Given the description of an element on the screen output the (x, y) to click on. 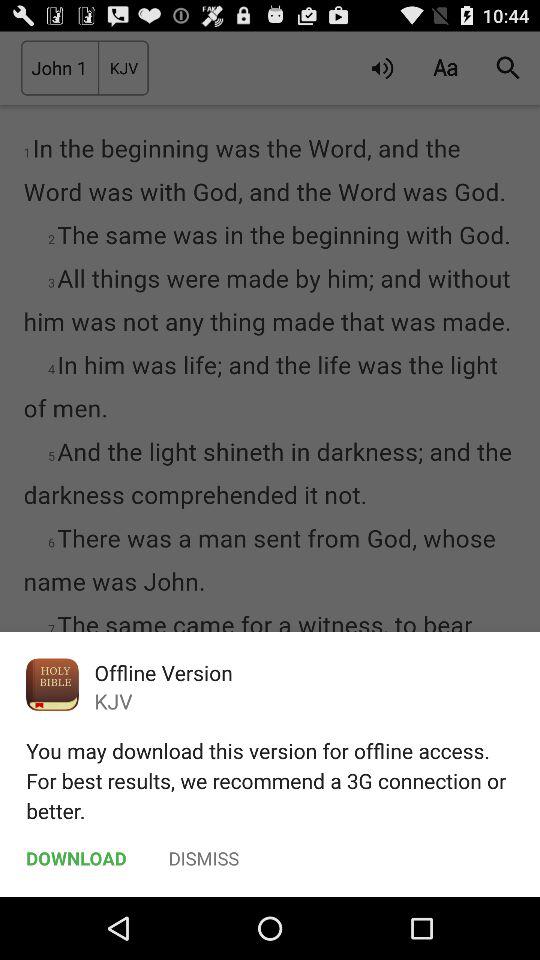
flip to the dismiss (203, 858)
